Given the description of an element on the screen output the (x, y) to click on. 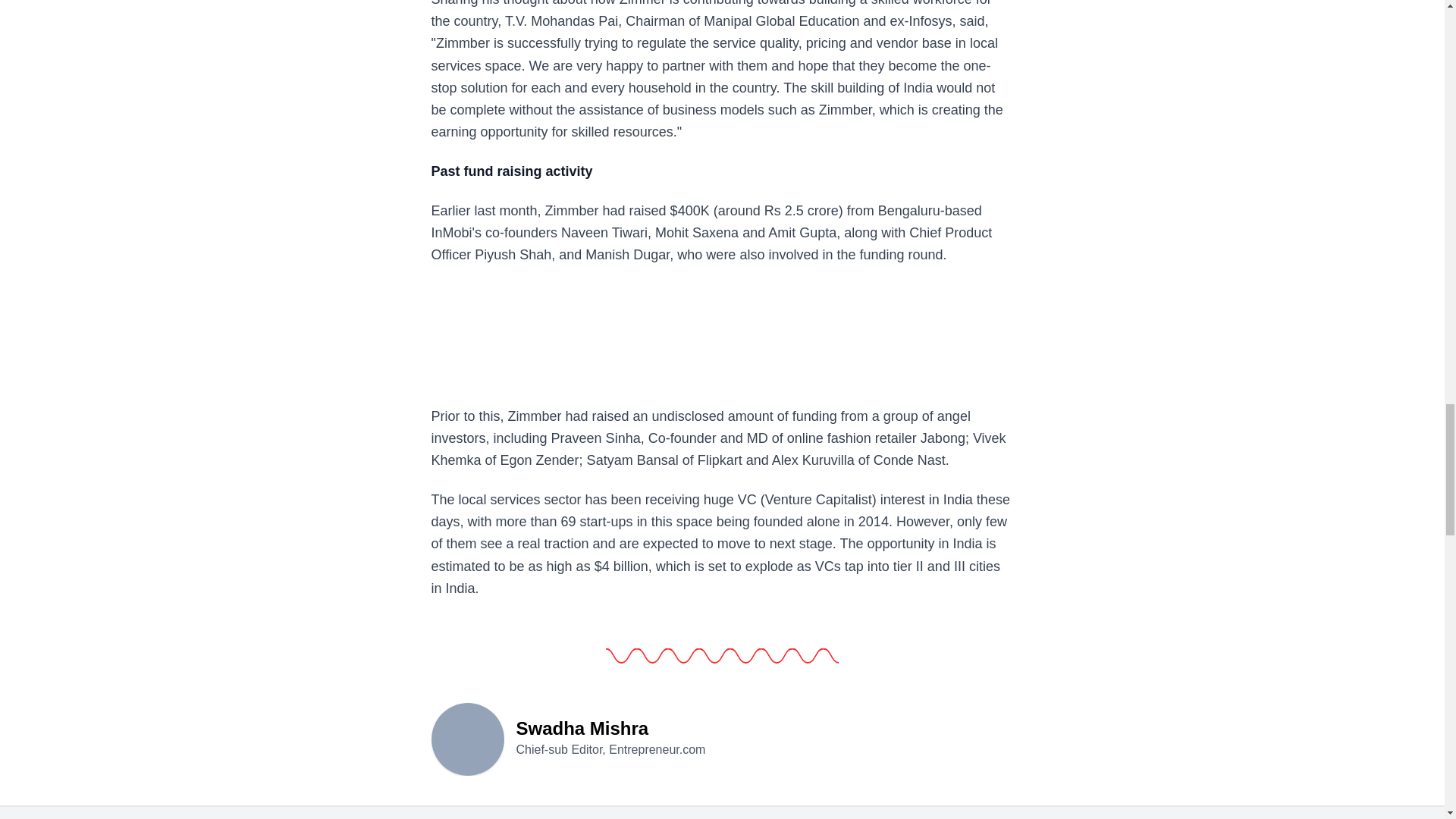
Swadha Mishra (466, 737)
